Given the description of an element on the screen output the (x, y) to click on. 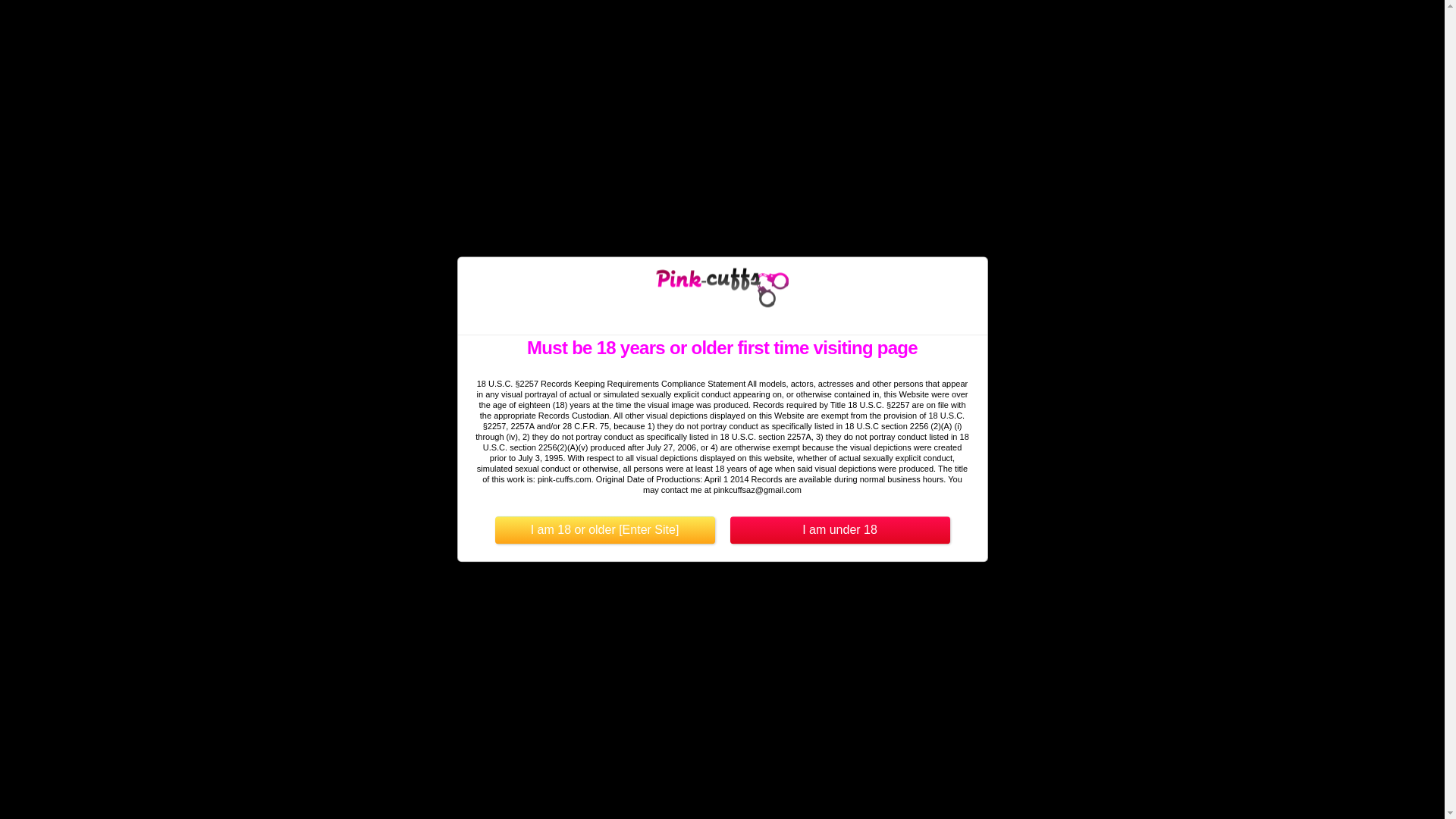
I am under 18 (839, 530)
FAQ (864, 26)
LINKS (812, 26)
